Given the description of an element on the screen output the (x, y) to click on. 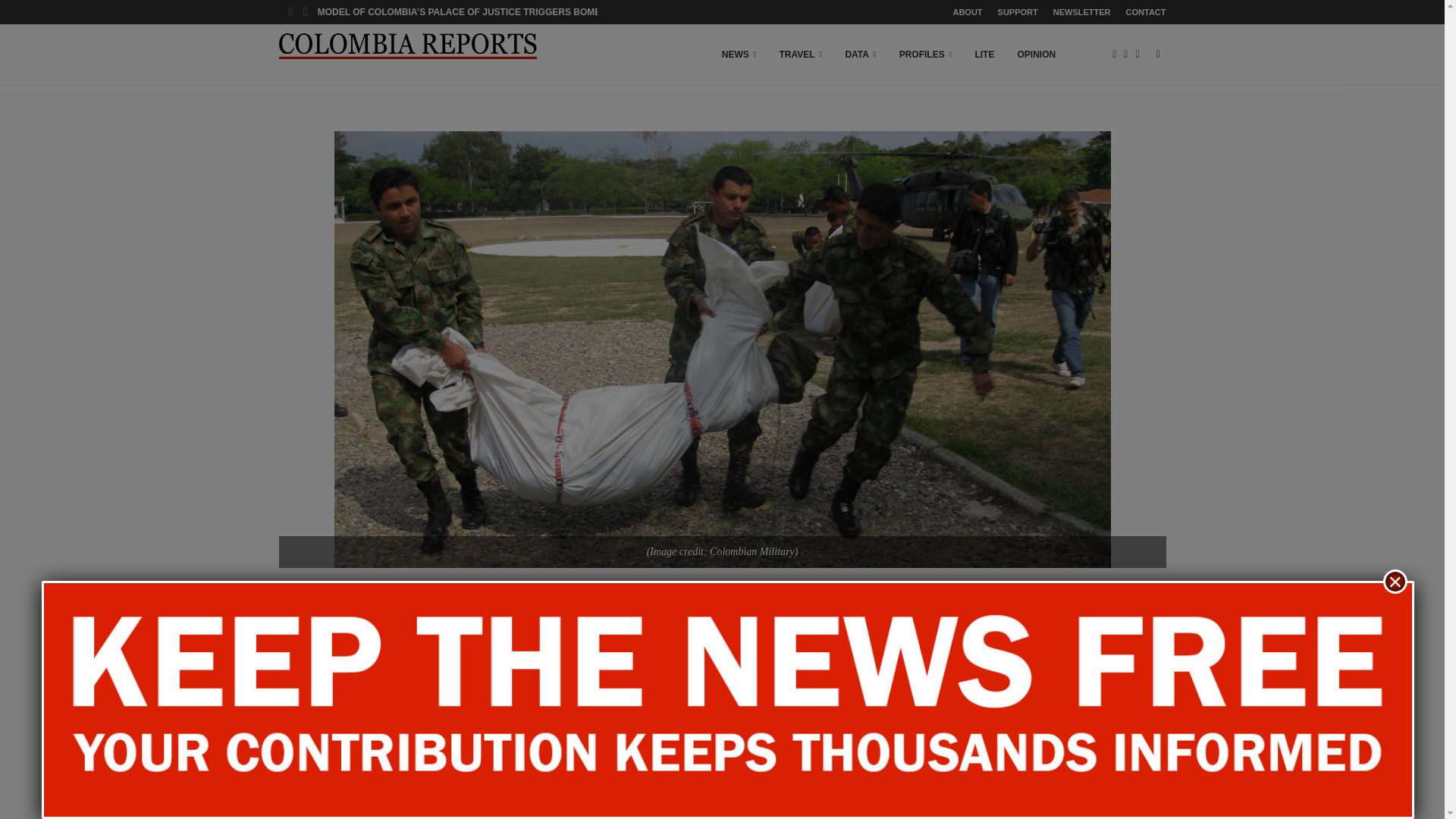
ABOUT (966, 12)
NEWSLETTER (1081, 12)
SUPPORT (1017, 12)
CONTACT (1145, 12)
TRAVEL (801, 54)
NEWS (739, 54)
